Given the description of an element on the screen output the (x, y) to click on. 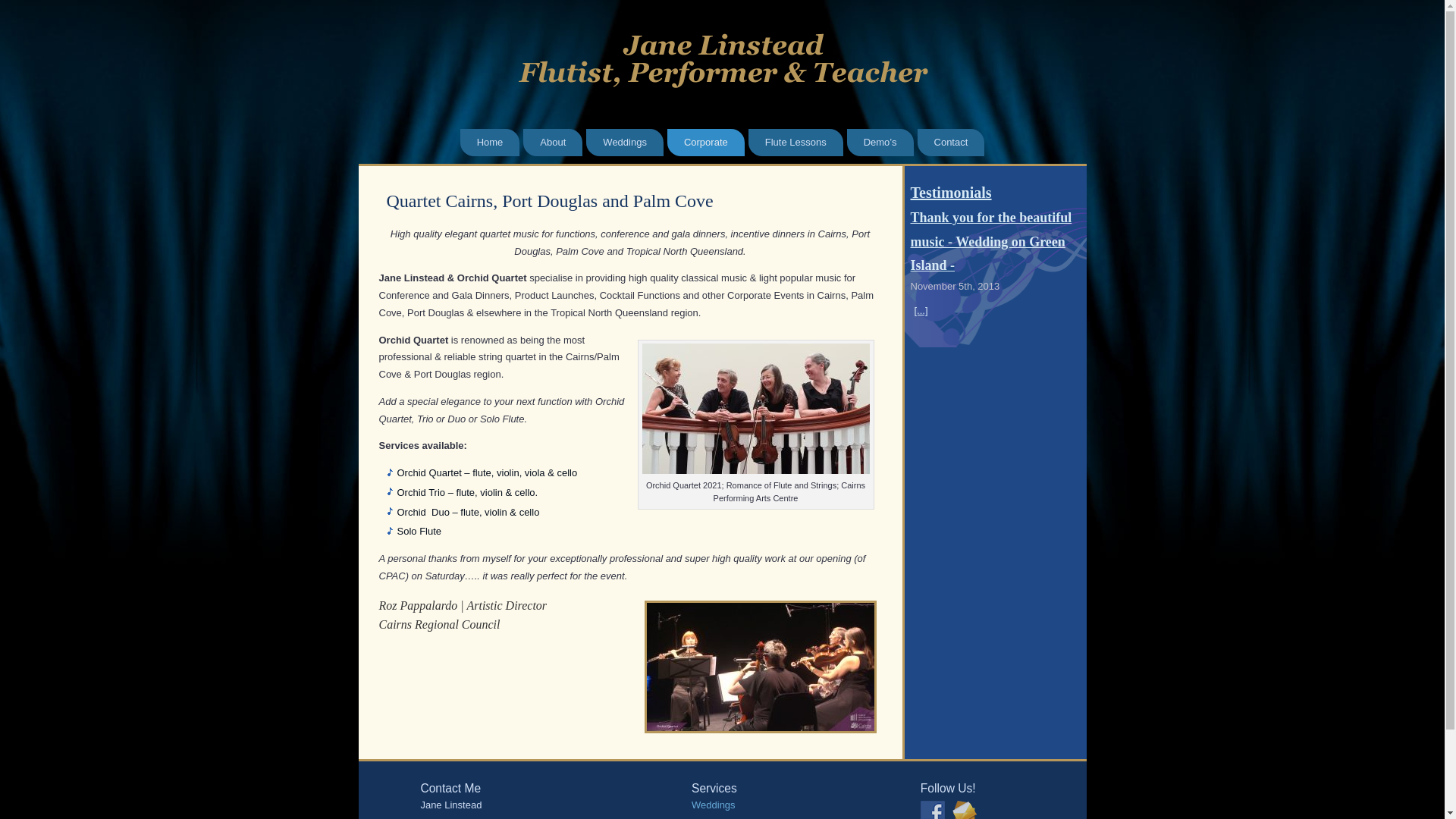
Home Element type: text (490, 142)
[...] Element type: text (921, 310)
Corporate Element type: text (705, 142)
About Element type: text (552, 142)
Weddings Element type: text (713, 804)
Contact Element type: text (951, 142)
Weddings Element type: text (624, 142)
Testimonials Element type: text (950, 192)
Flute Lessons Element type: text (795, 142)
